Given the description of an element on the screen output the (x, y) to click on. 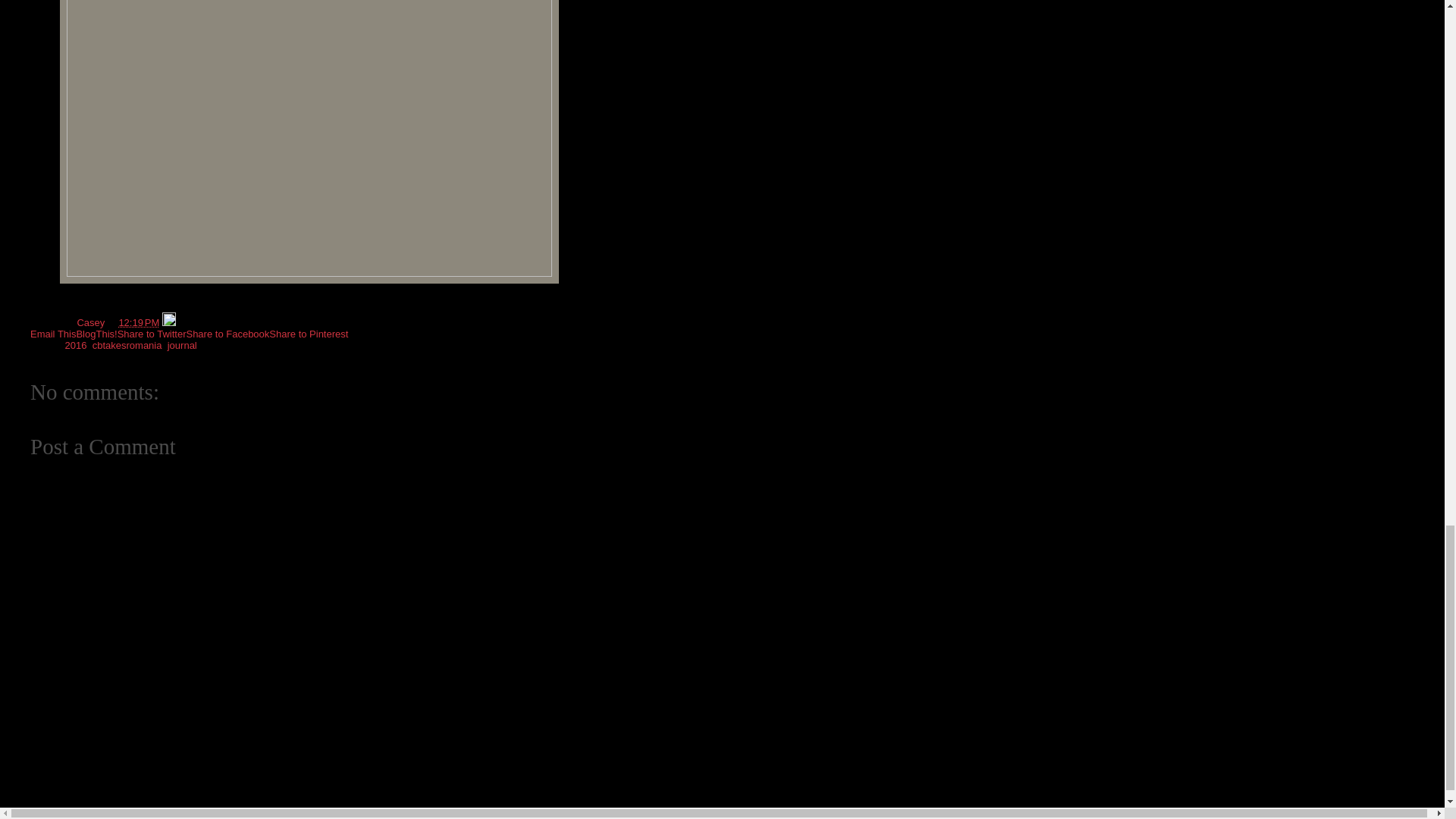
Share to Facebook (227, 333)
author profile (91, 322)
BlogThis! (95, 333)
Share to Twitter (151, 333)
2016 (76, 345)
Share to Pinterest (308, 333)
Email This (52, 333)
Email This (52, 333)
cbtakesromania (127, 345)
Share to Facebook (227, 333)
Edit Post (168, 322)
journal (181, 345)
Casey (91, 322)
BlogThis! (95, 333)
permanent link (137, 322)
